Given the description of an element on the screen output the (x, y) to click on. 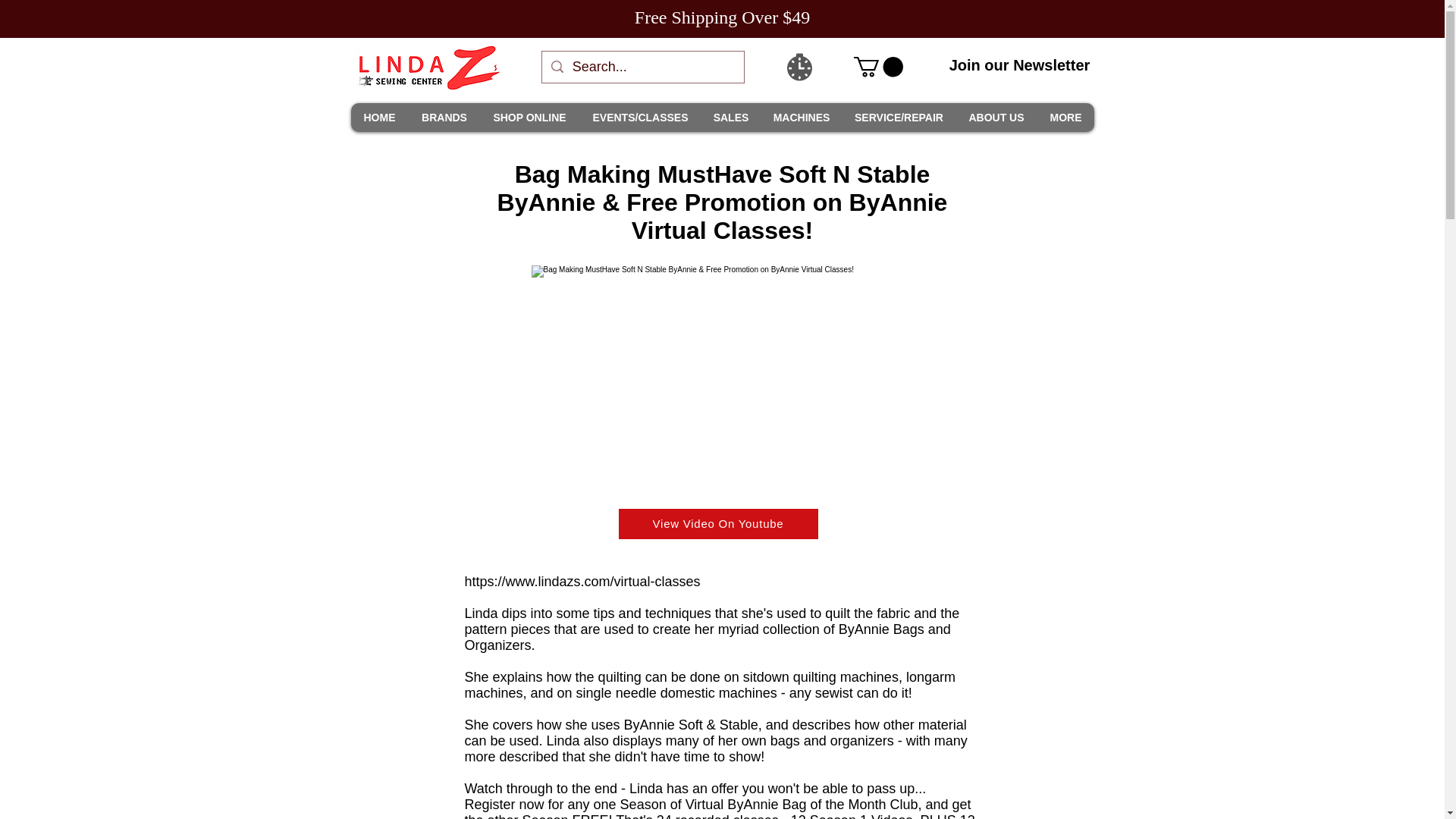
fix.png (721, 371)
View Video On Youtube (718, 523)
Go back home (427, 67)
HOME (378, 117)
Join our Newsletter (1019, 64)
ABOUT US (995, 117)
